Given the description of an element on the screen output the (x, y) to click on. 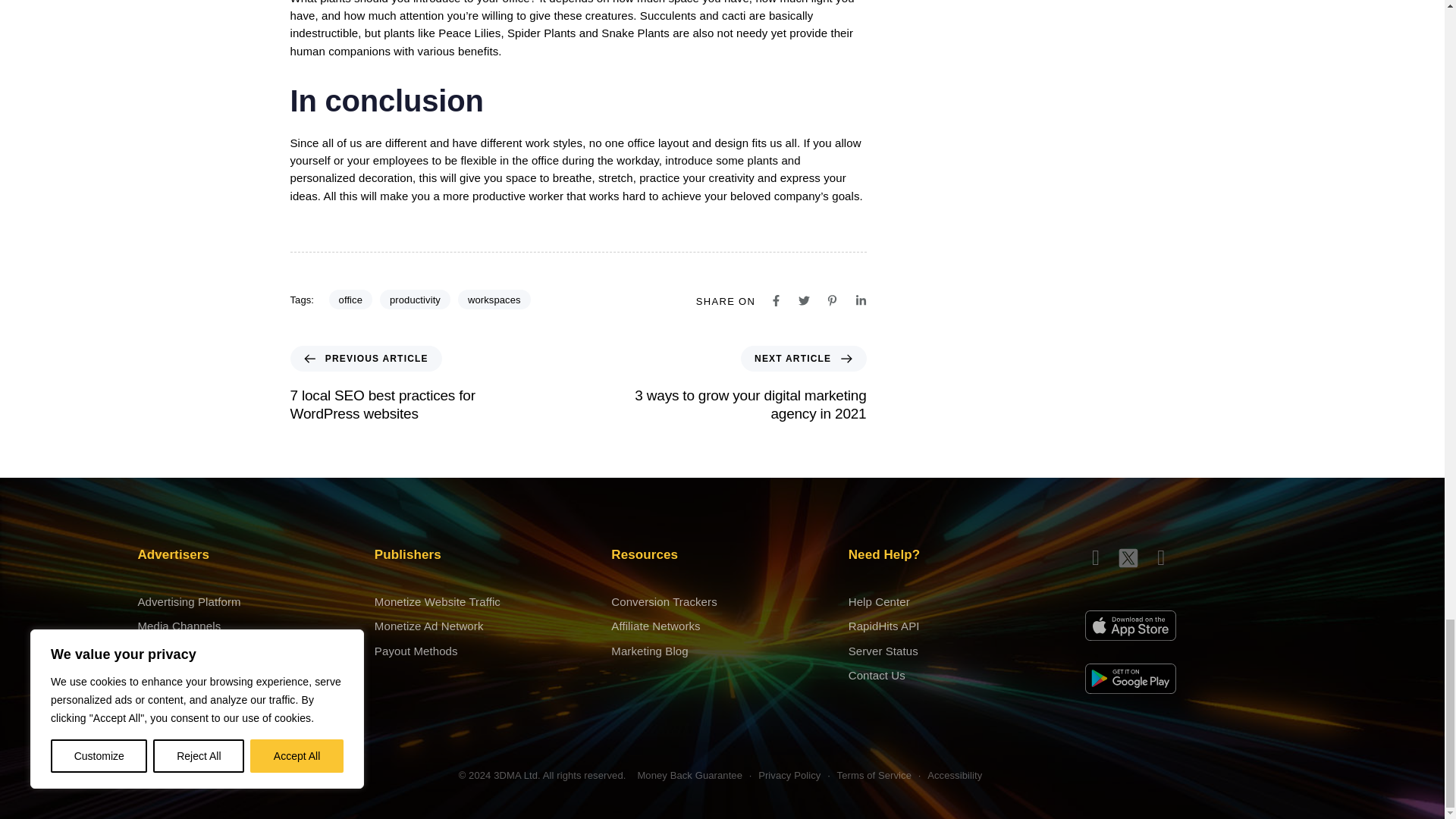
productivity (414, 299)
office (350, 299)
